Given the description of an element on the screen output the (x, y) to click on. 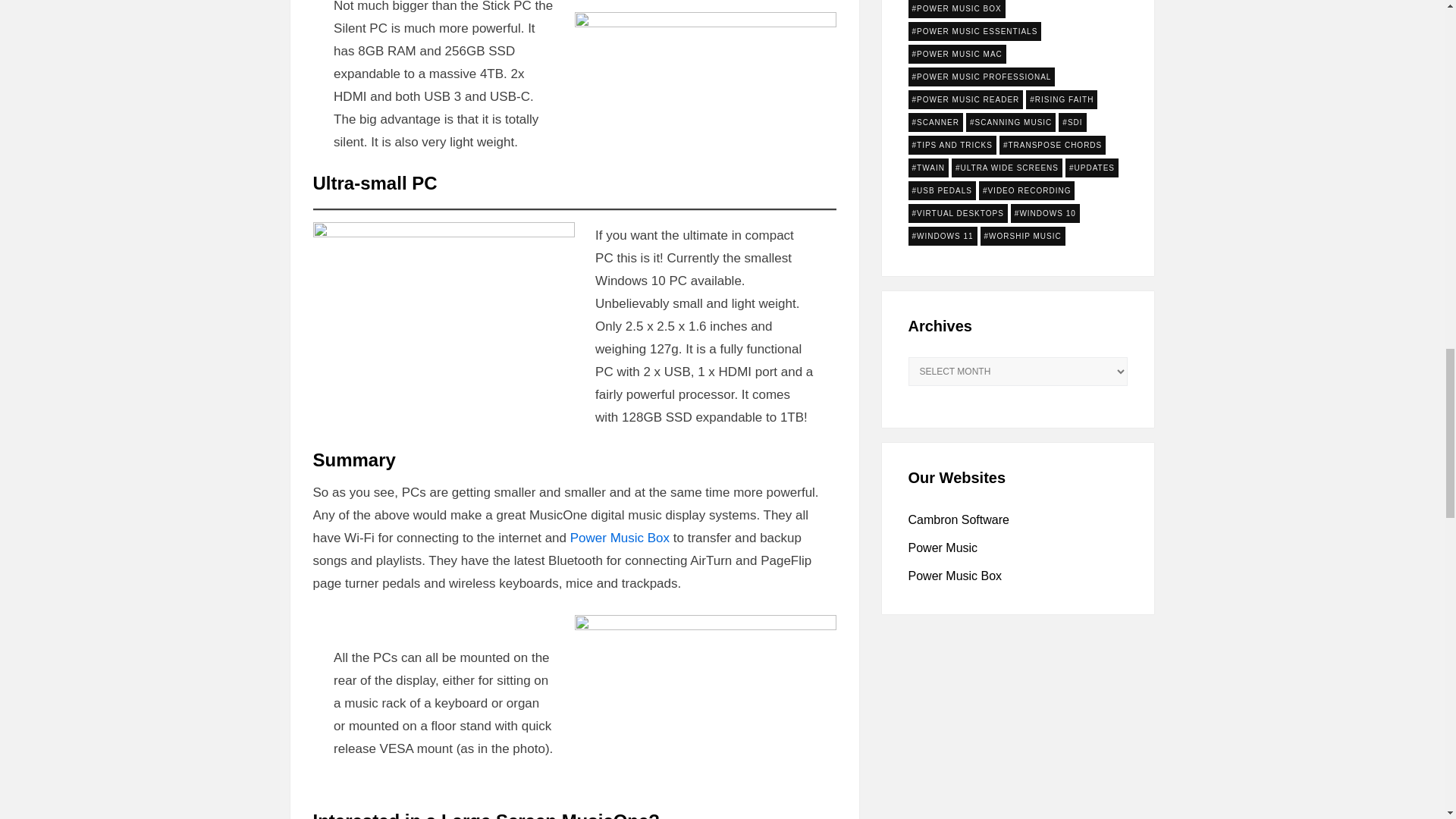
Power Music Box (619, 537)
